Given the description of an element on the screen output the (x, y) to click on. 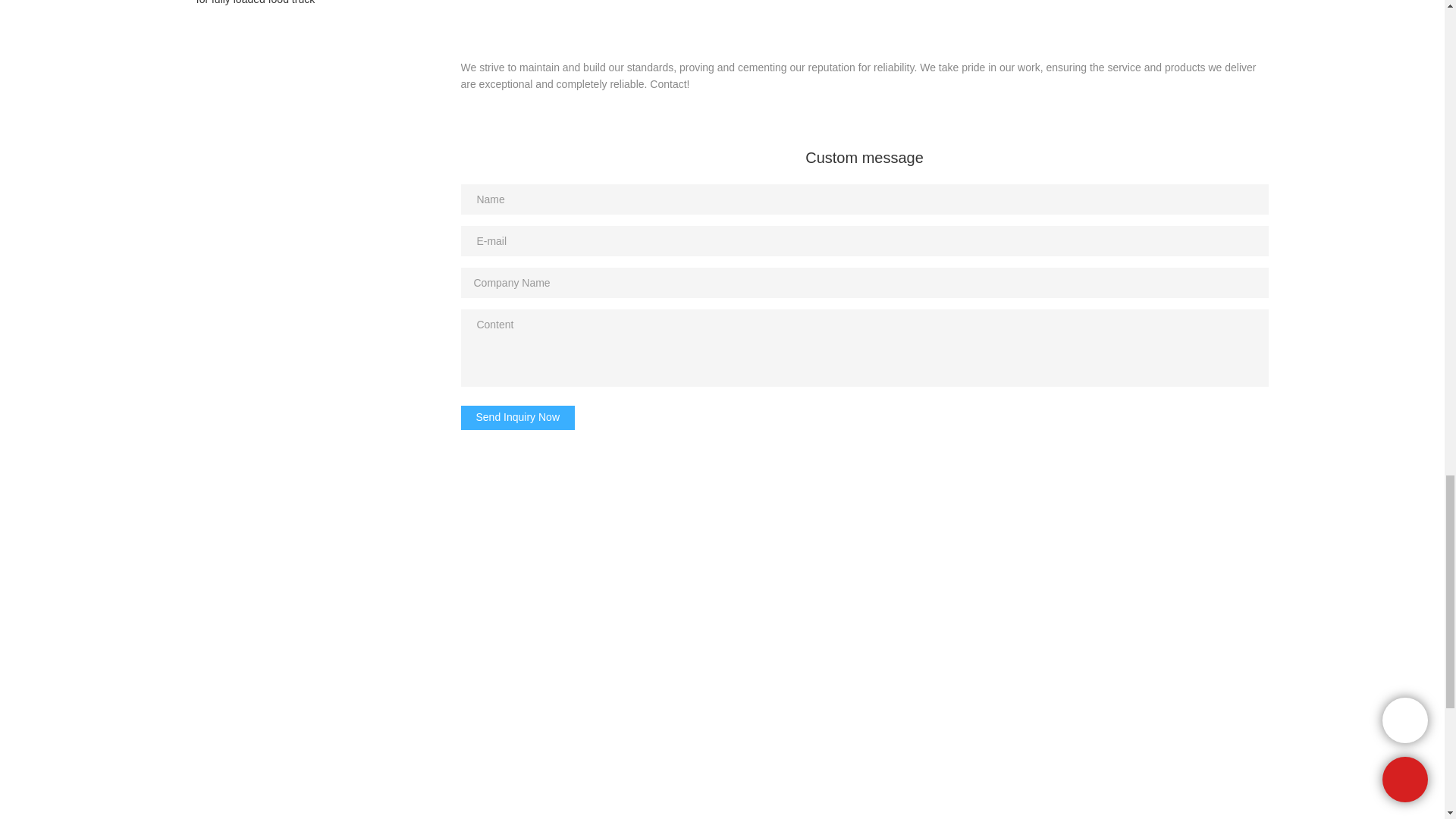
Send Inquiry Now (518, 417)
